Given the description of an element on the screen output the (x, y) to click on. 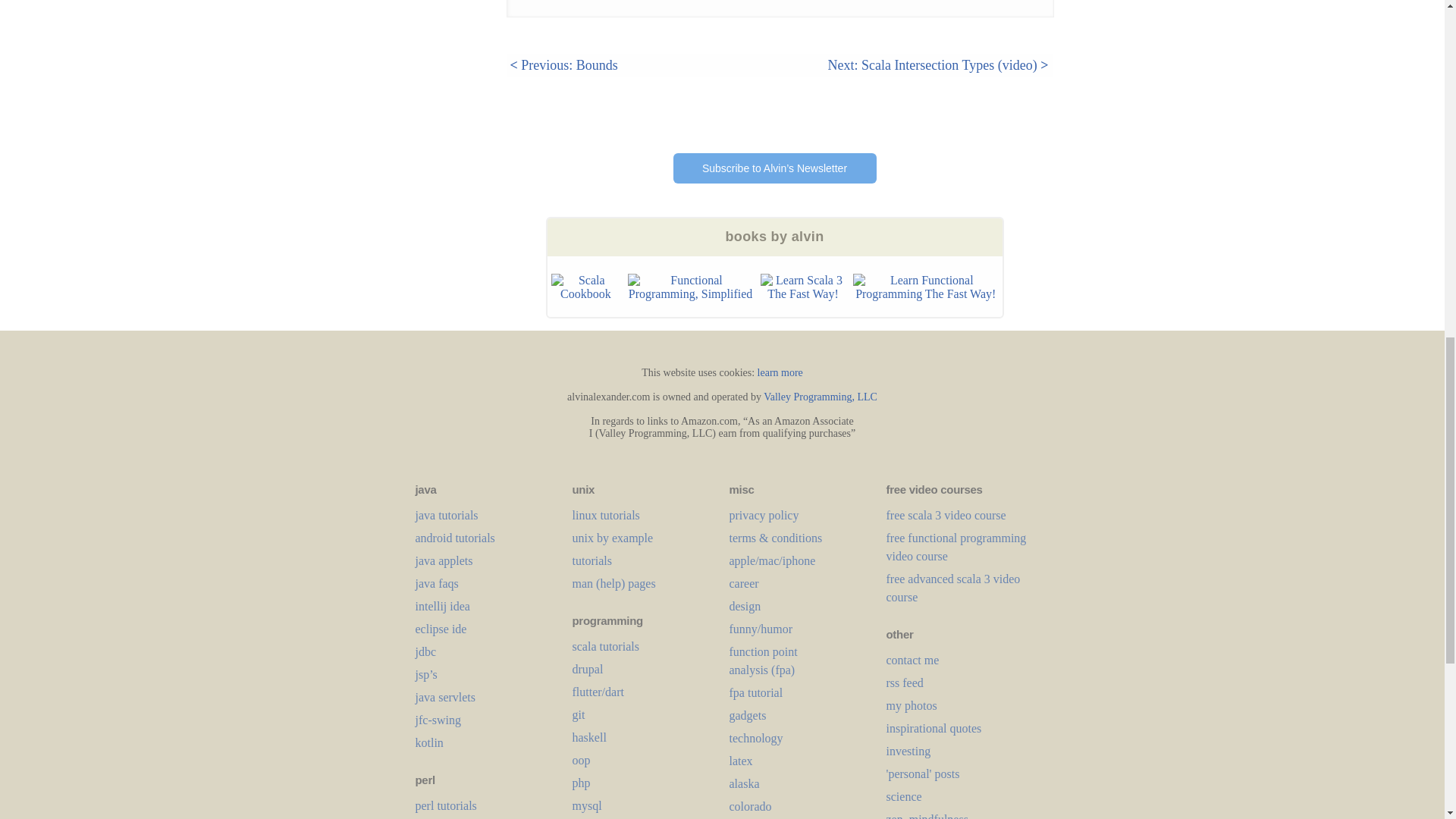
Free Advanced Scala 3 video training course (952, 587)
inspirational and motivational quotes (933, 727)
Learn Scala 3 The Fast Way! (802, 287)
Free functional programming video training course (955, 546)
Writing unapply Methods to Enable Pattern Matching (394, 25)
Go to the next page (937, 64)
Learn Functional Programming The Fast Way! (925, 287)
rss feed (904, 682)
Scala Cookbook (585, 287)
my photo galley (910, 705)
Term Inference with given and using (399, 56)
Writing apply Methods to Create Constructors (389, 2)
Go to the previous page (563, 64)
mobile site (912, 659)
Functional Programming, Simplified (689, 287)
